Given the description of an element on the screen output the (x, y) to click on. 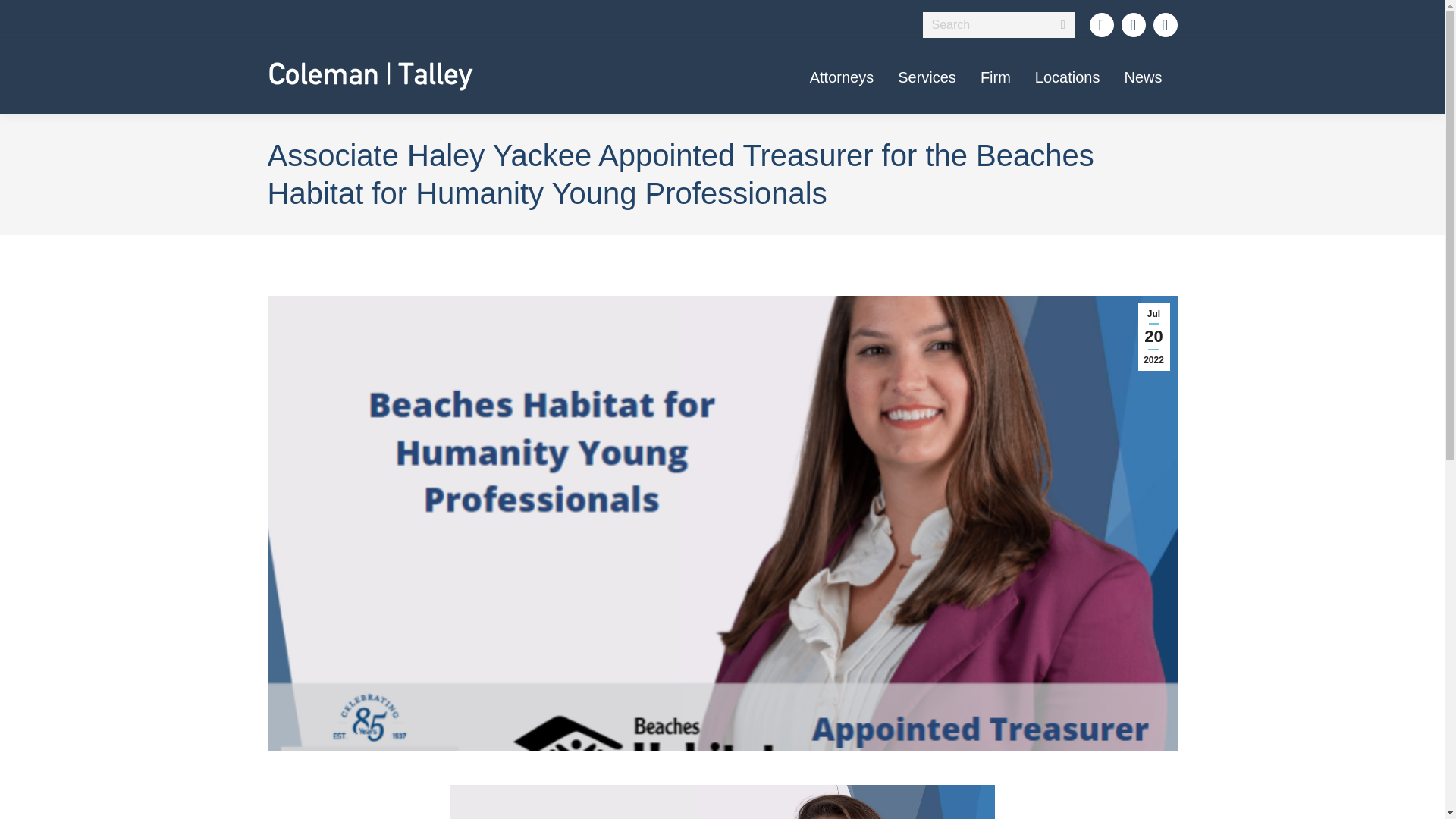
Facebook page opens in new window (1132, 24)
Go! (27, 17)
Attorneys (841, 76)
Linkedin page opens in new window (1101, 24)
Services (926, 76)
Instagram page opens in new window (1164, 24)
Search form (997, 24)
